Given the description of an element on the screen output the (x, y) to click on. 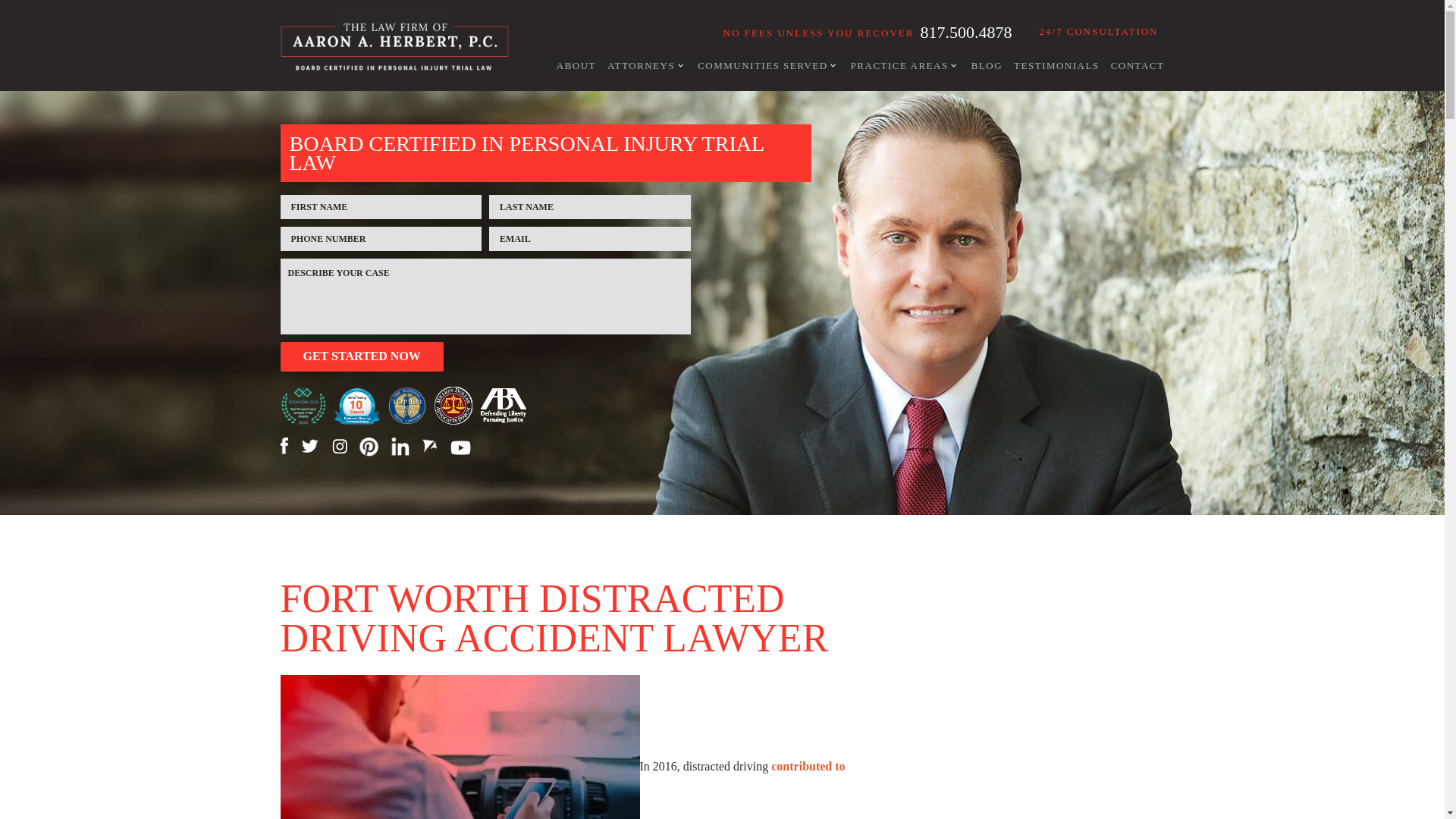
817.500.4878 (965, 32)
ATTORNEYS (640, 64)
COMMUNITIES SERVED (762, 64)
Get Started Now (362, 356)
ABOUT (569, 64)
